Given the description of an element on the screen output the (x, y) to click on. 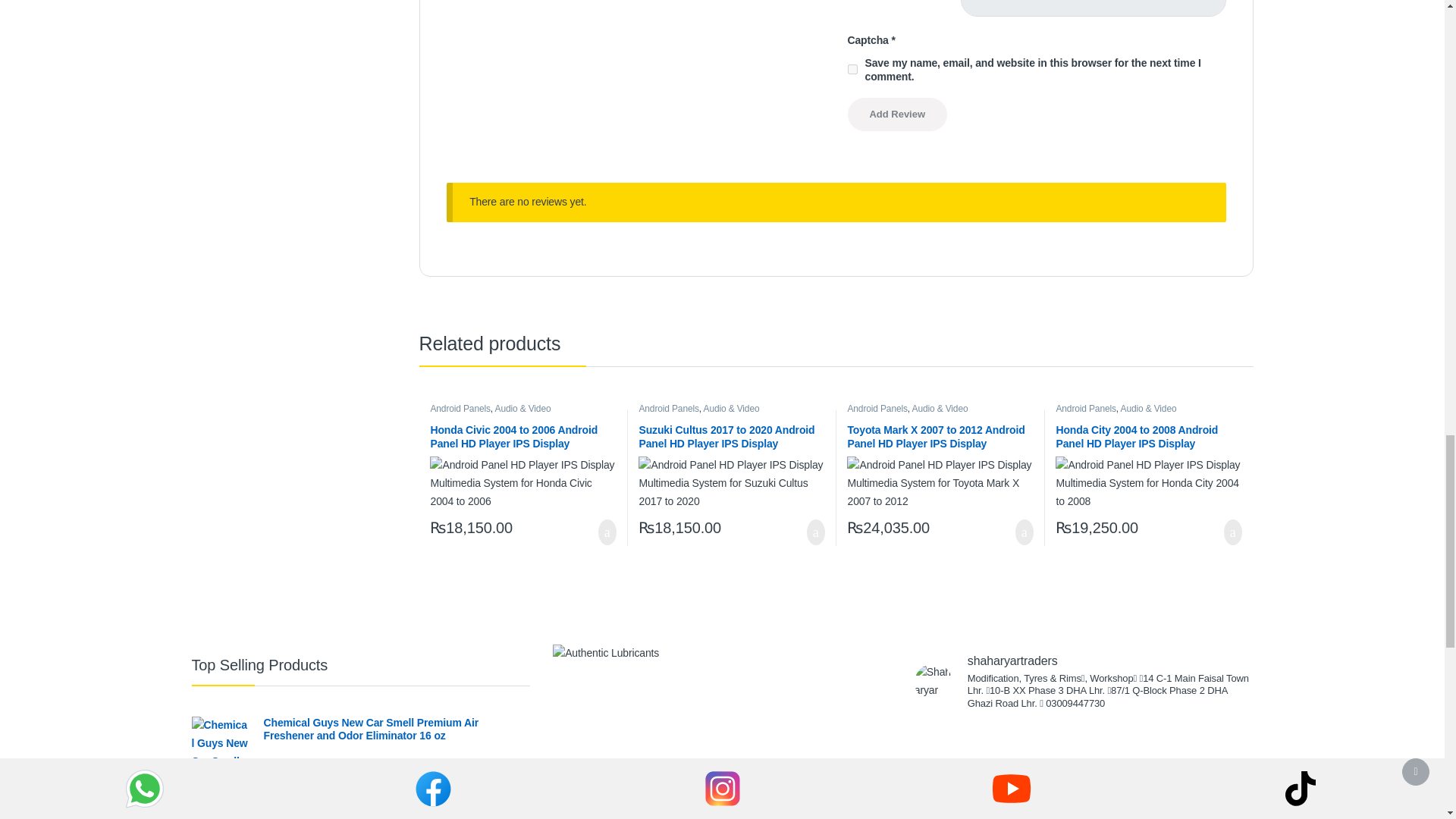
Add Review (897, 114)
yes (852, 69)
